Given the description of an element on the screen output the (x, y) to click on. 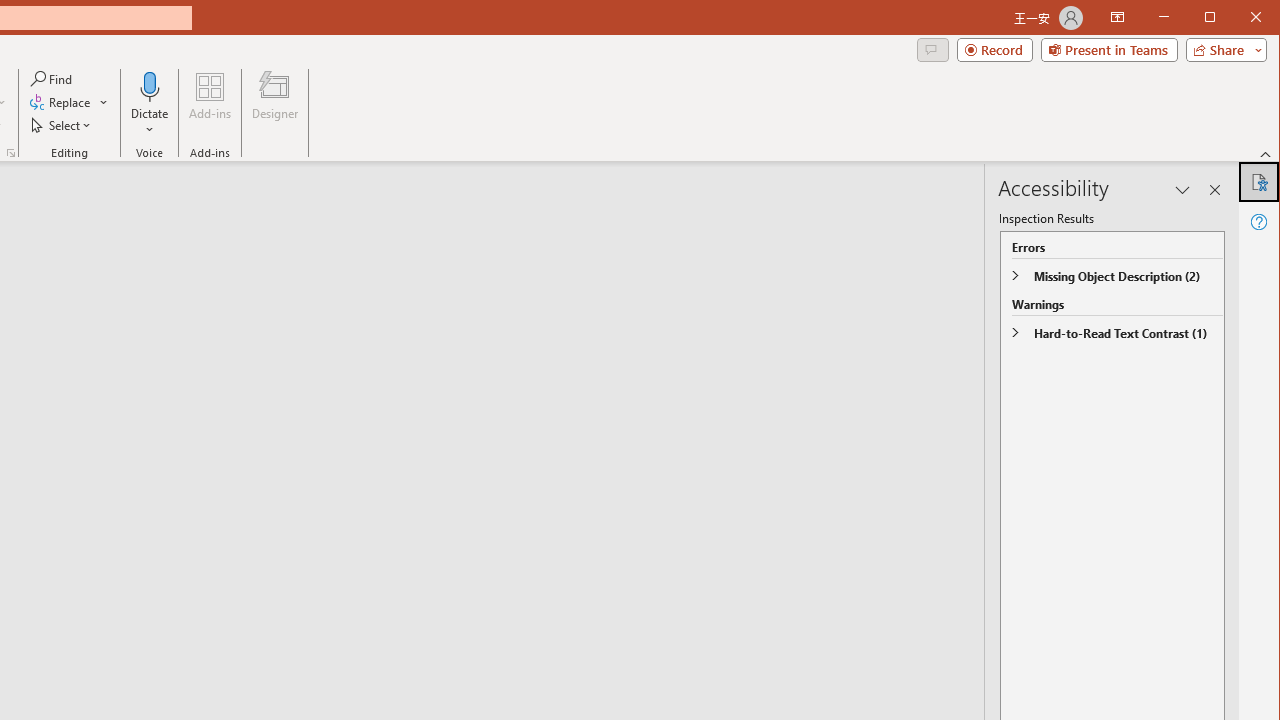
Present in Teams (1108, 49)
More Options (150, 123)
Dictate (150, 104)
Task Pane Options (1183, 189)
Record (994, 49)
Close (1261, 18)
Find... (52, 78)
Share (1222, 49)
Designer (274, 104)
Replace... (69, 101)
Maximize (1238, 18)
Dictate (150, 86)
Accessibility (1258, 182)
